Given the description of an element on the screen output the (x, y) to click on. 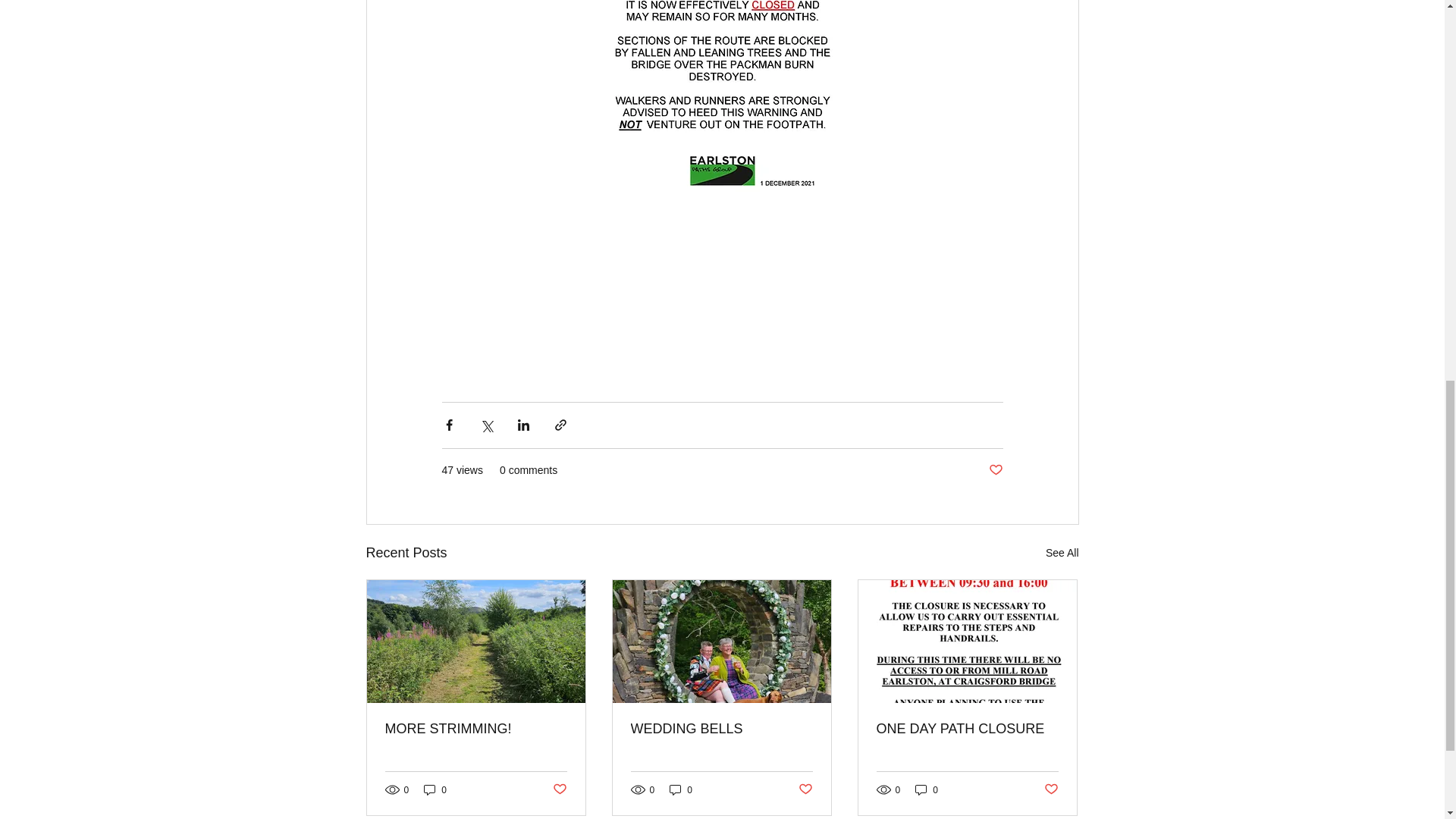
Post not marked as liked (558, 789)
See All (1061, 553)
Post not marked as liked (804, 789)
0 (435, 789)
ONE DAY PATH CLOSURE (967, 729)
0 (681, 789)
Post not marked as liked (1050, 789)
0 (926, 789)
MORE STRIMMING! (476, 729)
Post not marked as liked (995, 470)
